Given the description of an element on the screen output the (x, y) to click on. 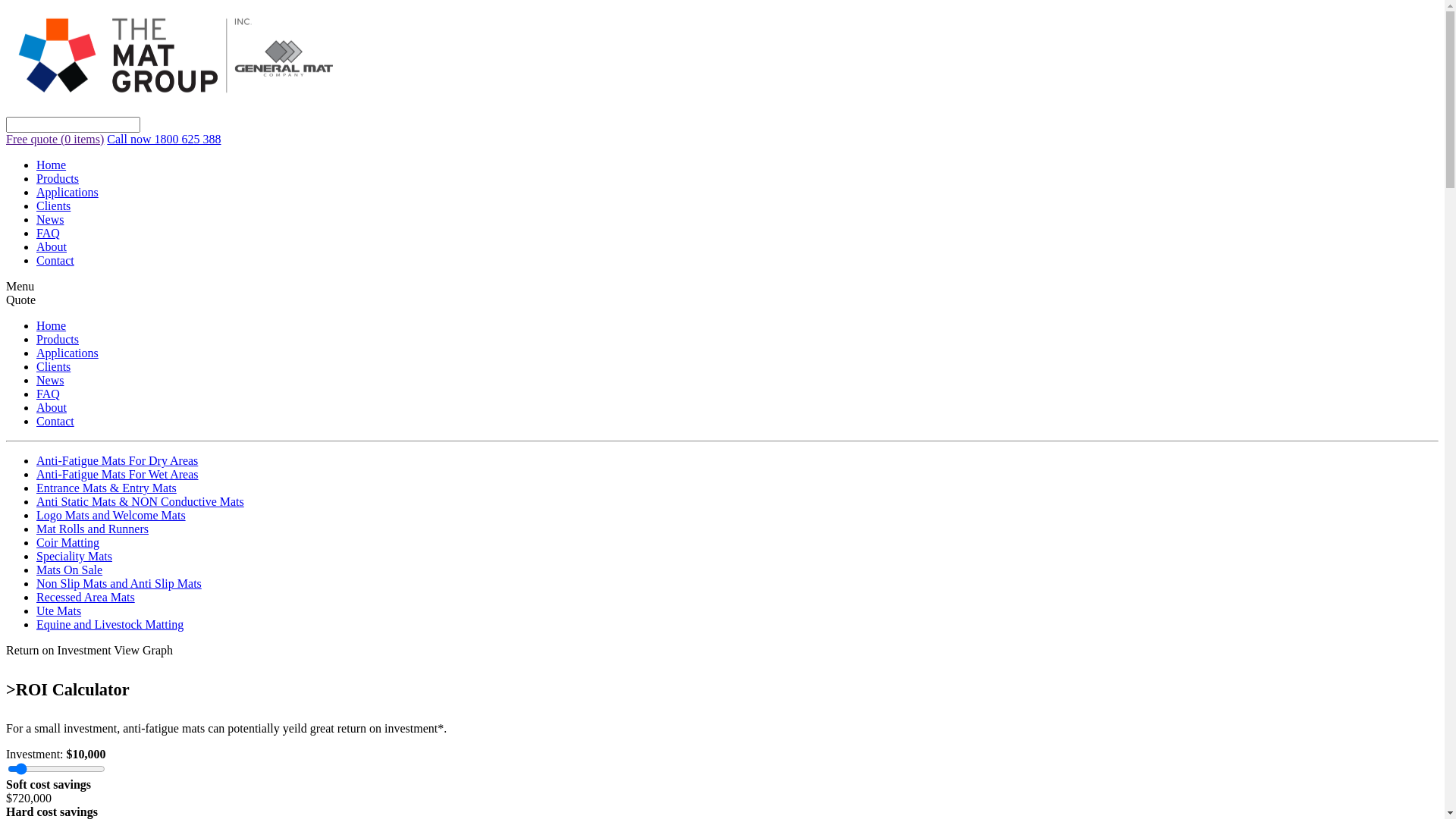
Products Element type: text (57, 338)
Logo Mats and Welcome Mats Element type: text (110, 514)
Contact Element type: text (55, 260)
Return on Investment View Graph Element type: text (89, 649)
Equine and Livestock Matting Element type: text (109, 624)
Coir Matting Element type: text (67, 542)
Quote Element type: text (20, 299)
Contact Element type: text (55, 420)
Home Element type: text (50, 325)
About Element type: text (51, 407)
Applications Element type: text (67, 352)
News Element type: text (49, 379)
Ute Mats Element type: text (58, 610)
Anti Static Mats & NON Conductive Mats Element type: text (140, 501)
Clients Element type: text (53, 205)
Non Slip Mats and Anti Slip Mats Element type: text (118, 583)
Applications Element type: text (67, 191)
Anti-Fatigue Mats For Dry Areas Element type: text (116, 460)
Speciality Mats Element type: text (74, 555)
Call now 1800 625 388 Element type: text (163, 138)
Menu Element type: text (20, 285)
Free quote (0 items) Element type: text (54, 138)
Clients Element type: text (53, 366)
Mat Rolls and Runners Element type: text (92, 528)
Entrance Mats & Entry Mats Element type: text (106, 487)
Recessed Area Mats Element type: text (85, 596)
News Element type: text (49, 219)
FAQ Element type: text (47, 393)
FAQ Element type: text (47, 232)
Mats On Sale Element type: text (69, 569)
Home Element type: text (50, 164)
About Element type: text (51, 246)
Anti-Fatigue Mats For Wet Areas Element type: text (117, 473)
Products Element type: text (57, 178)
